Given the description of an element on the screen output the (x, y) to click on. 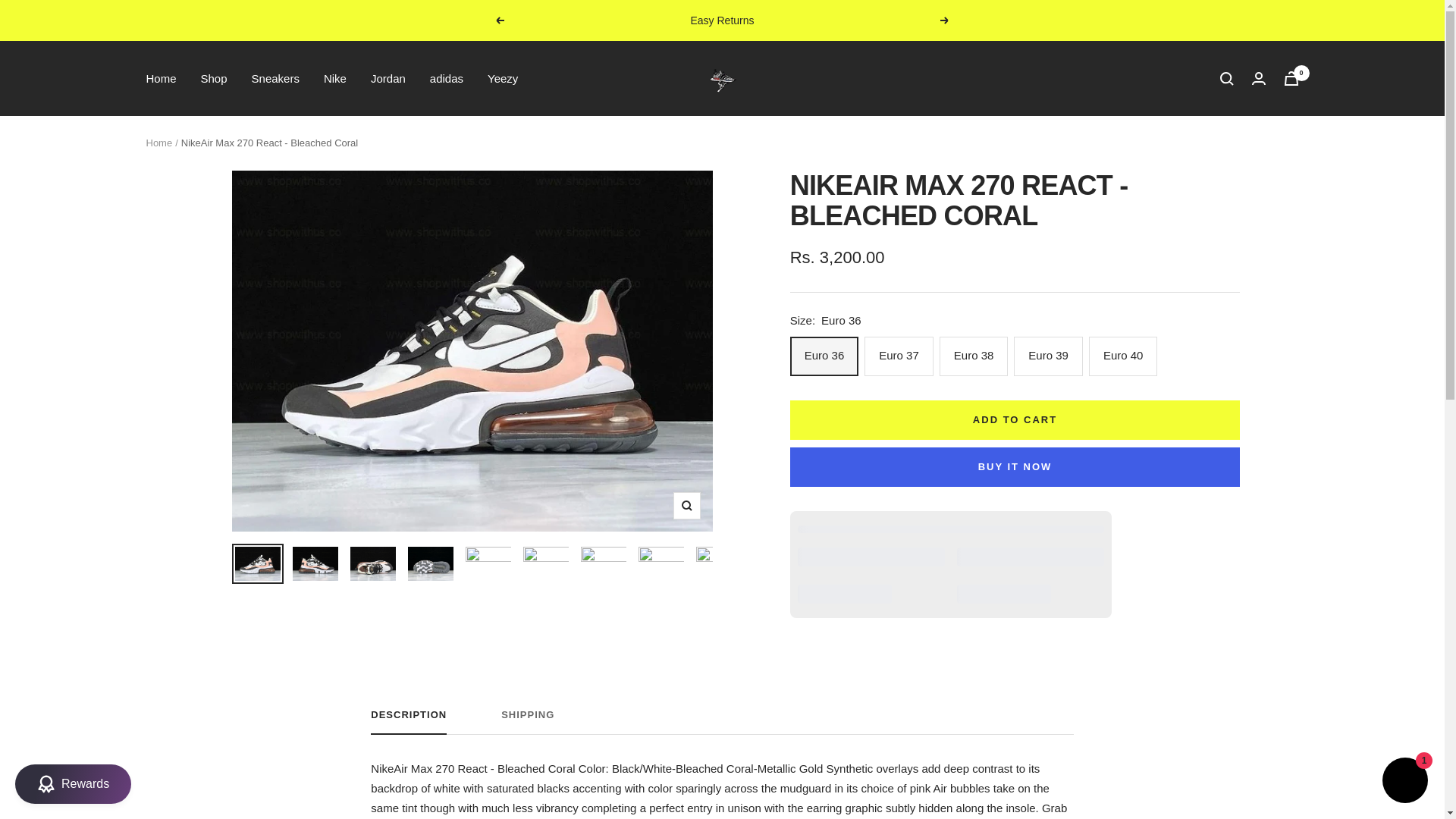
Sneakers (275, 77)
Previous (499, 20)
Jordan (388, 77)
Yeezy (502, 77)
Zoom (686, 505)
Nike (334, 77)
0 (1290, 78)
Home (160, 77)
Next (944, 20)
Shopify online store chat (722, 721)
Shop With Us (722, 721)
